Given the description of an element on the screen output the (x, y) to click on. 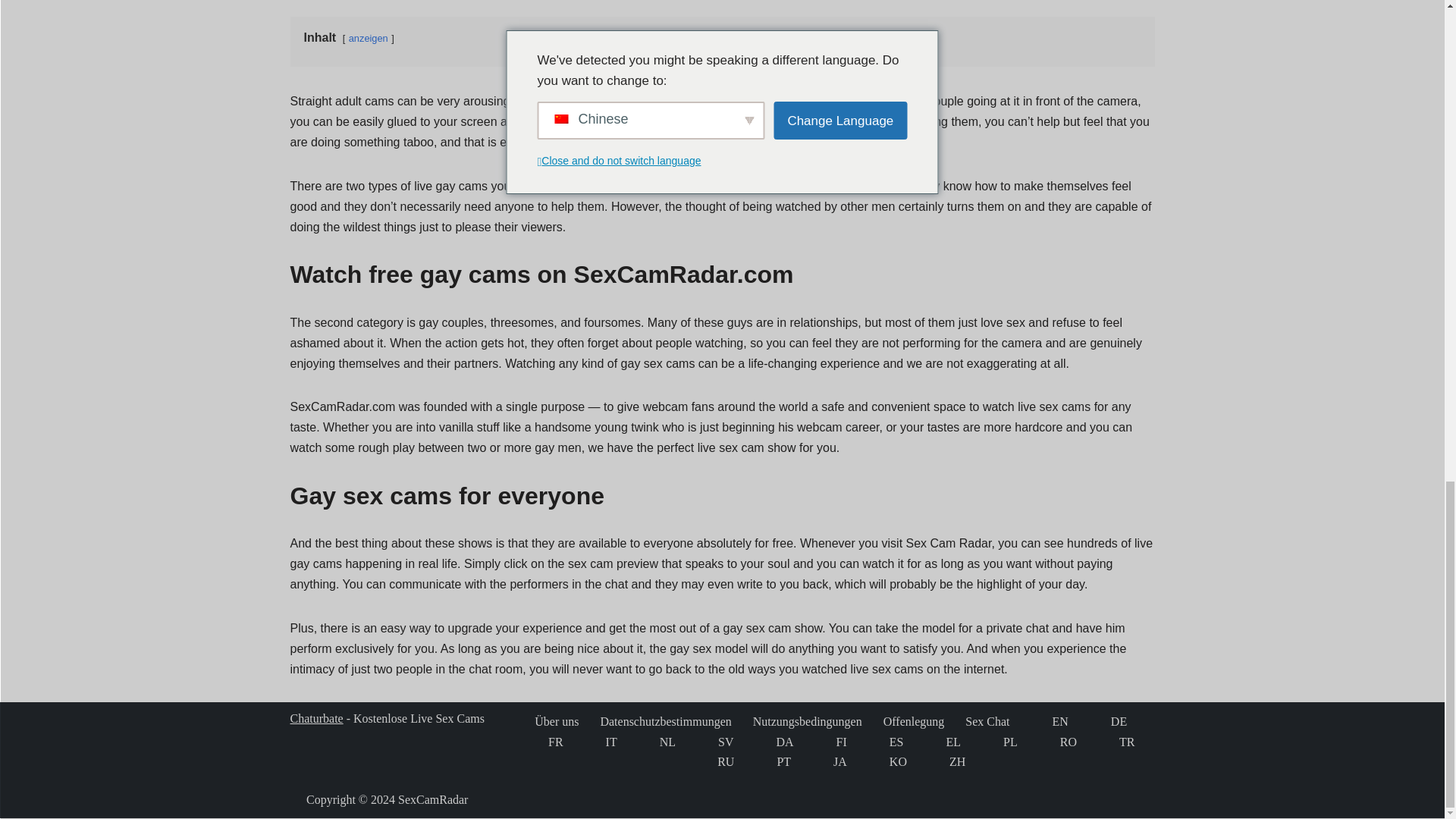
Portuguese (765, 761)
Polish (991, 741)
German (1099, 721)
Japanese (822, 761)
Dutch (649, 741)
Spanish (878, 741)
Swedish (707, 741)
Greek (935, 741)
Finnish (825, 741)
Turkish (1108, 741)
Russian (706, 761)
Danish (764, 741)
Chinese (937, 761)
French (537, 741)
Italian (595, 741)
